Given the description of an element on the screen output the (x, y) to click on. 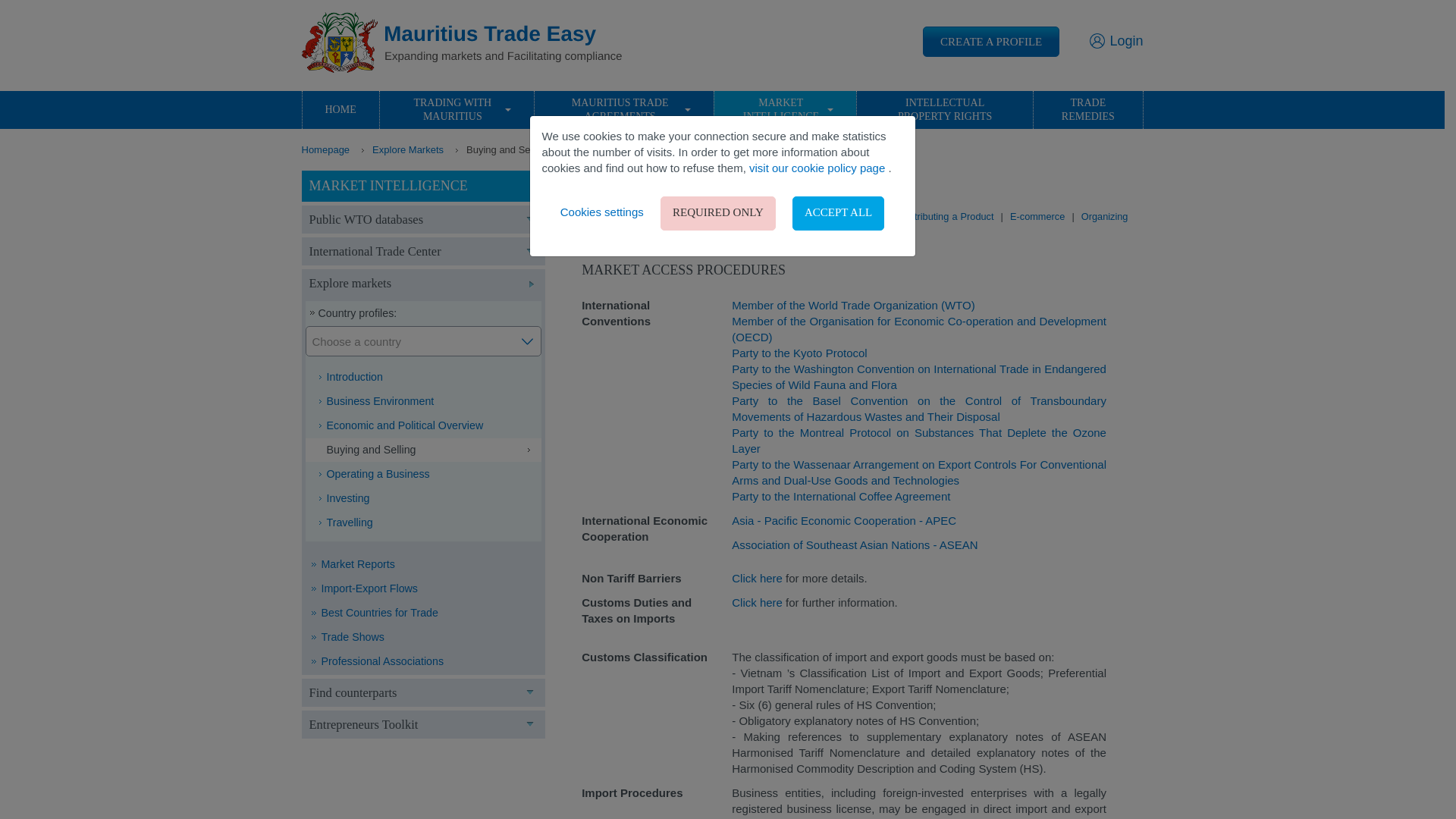
MAURITIUS TRADE AGREEMENTS (623, 109)
Choose a country (423, 340)
HOME (339, 109)
CREATE A PROFILE (991, 40)
MARKET INTELLIGENCE (784, 109)
Login (1115, 41)
TRADING WITH MAURITIUS (456, 109)
flag Vietnam (598, 181)
